Given the description of an element on the screen output the (x, y) to click on. 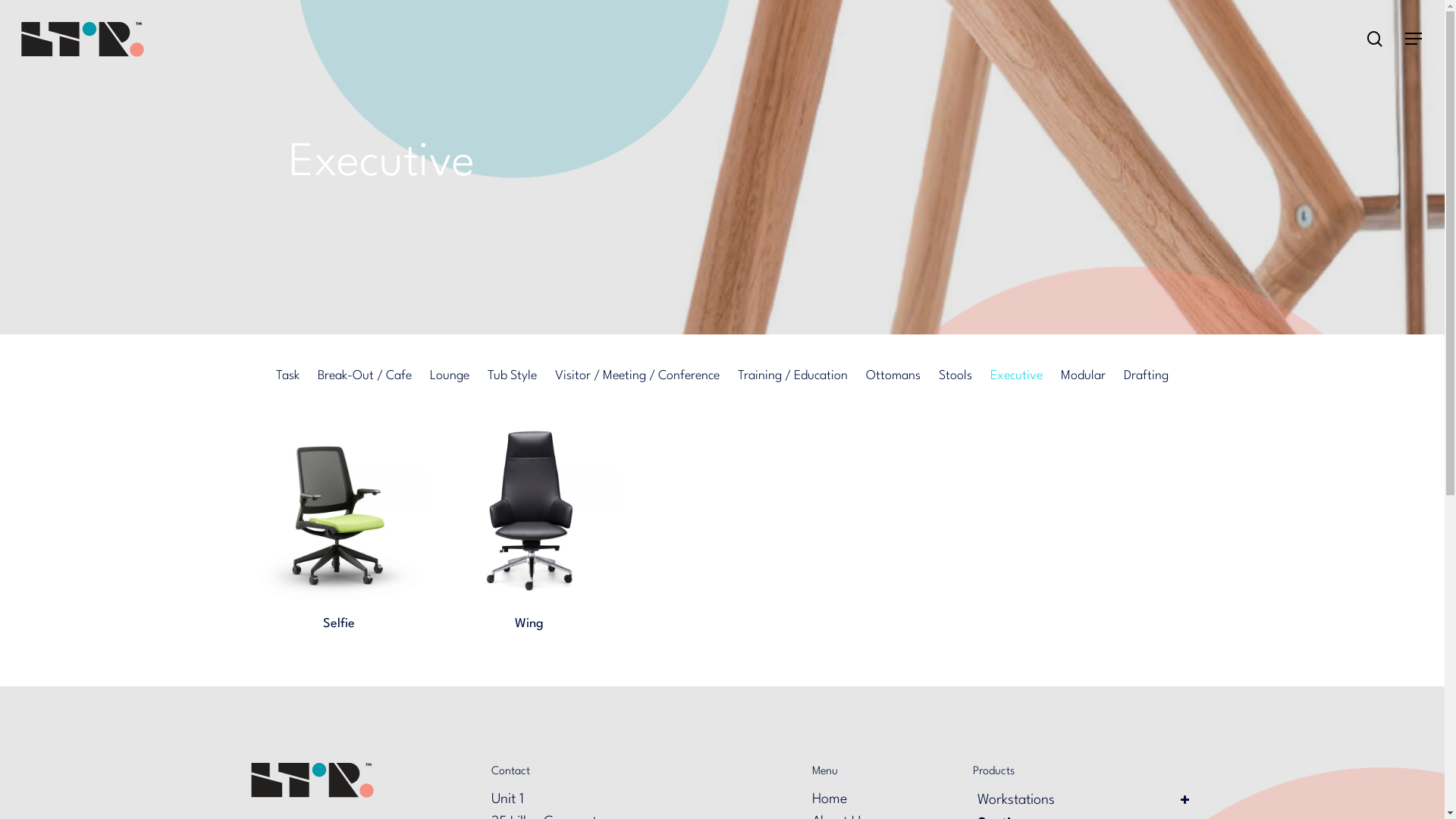
Visitor / Meeting / Conference Element type: text (637, 375)
search Element type: text (1374, 39)
Task Element type: text (287, 375)
Workstations Element type: text (1085, 799)
Drafting Element type: text (1145, 375)
Training / Education Element type: text (792, 375)
Executive Element type: text (1016, 375)
Tub Style Element type: text (511, 375)
Ottomans Element type: text (893, 375)
Stools Element type: text (955, 375)
Break-Out / Cafe Element type: text (364, 375)
Home Element type: text (829, 799)
Menu Element type: text (1414, 39)
Modular Element type: text (1082, 375)
Lounge Element type: text (449, 375)
